Given the description of an element on the screen output the (x, y) to click on. 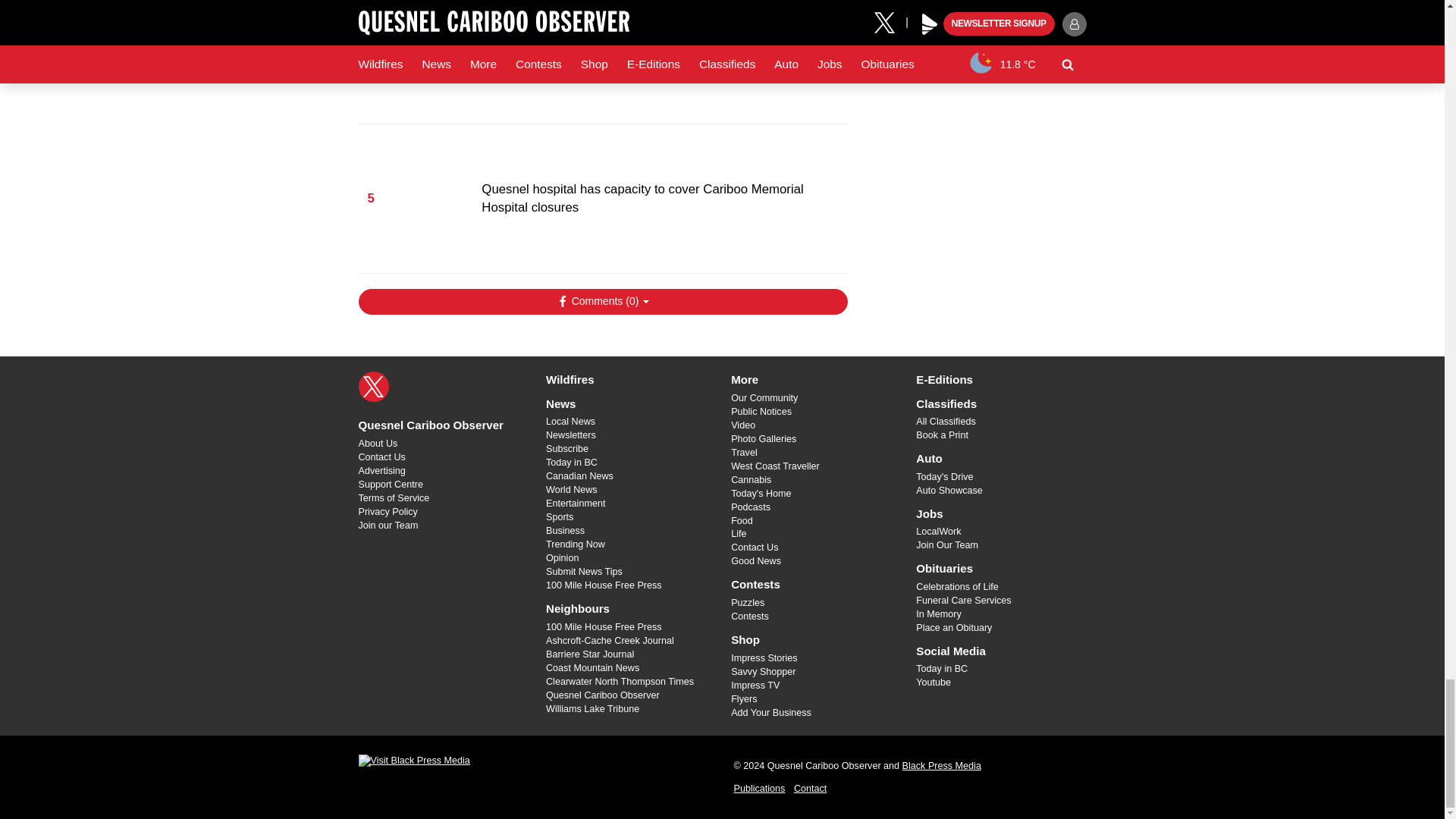
X (373, 386)
Show Comments (602, 301)
